Given the description of an element on the screen output the (x, y) to click on. 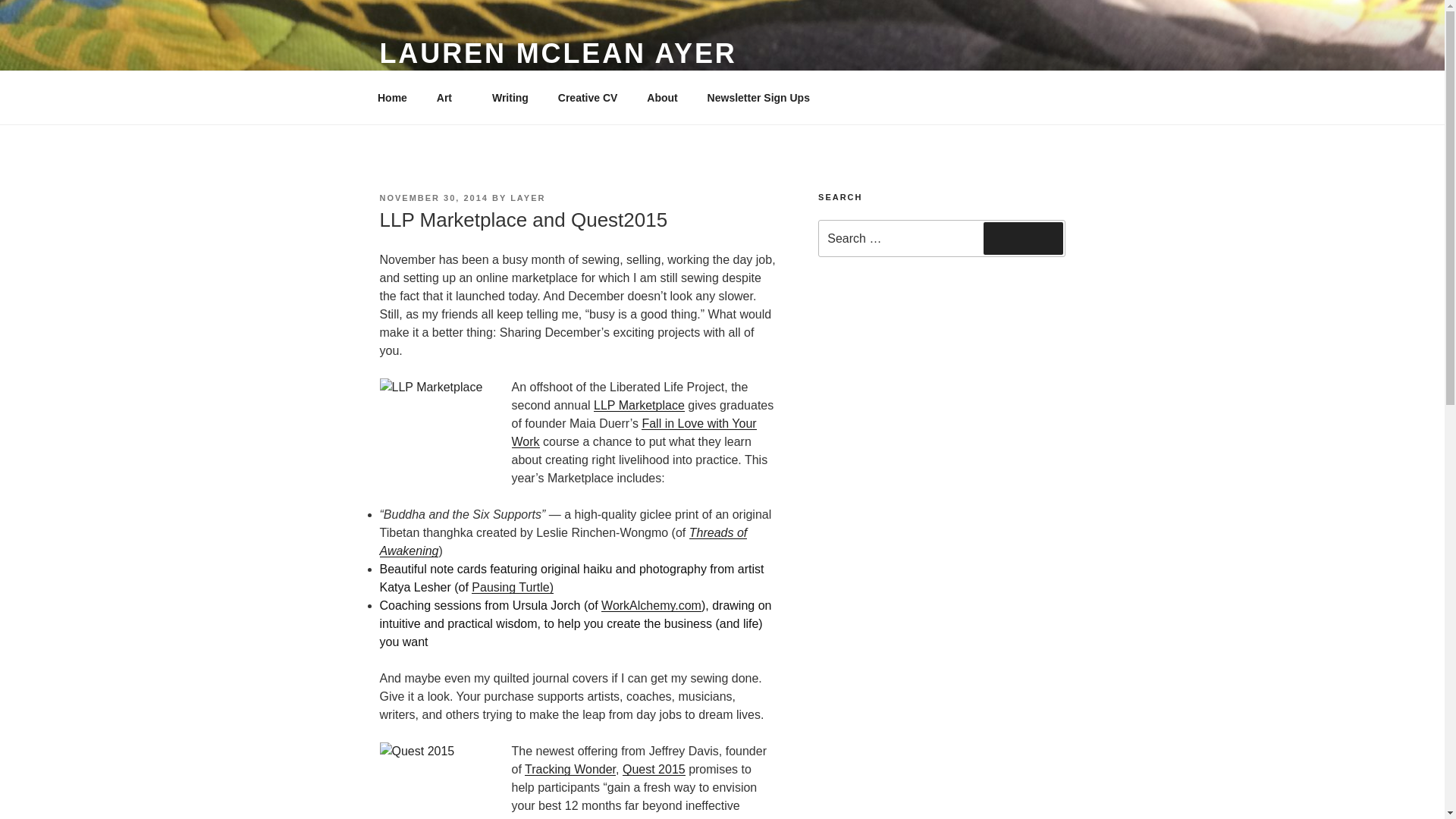
WorkAlchemy.com (651, 604)
Quest 2015 (654, 768)
Search (1023, 237)
LAUREN MCLEAN AYER (557, 52)
Art (449, 97)
Threads of Awakening (562, 541)
Fall in Love with Your Work (633, 431)
LAYER (527, 197)
About (661, 97)
Creative CV (587, 97)
NOVEMBER 30, 2014 (432, 197)
Writing (510, 97)
LLP Marketplace (639, 404)
Home (392, 97)
Tracking Wonder (569, 768)
